Given the description of an element on the screen output the (x, y) to click on. 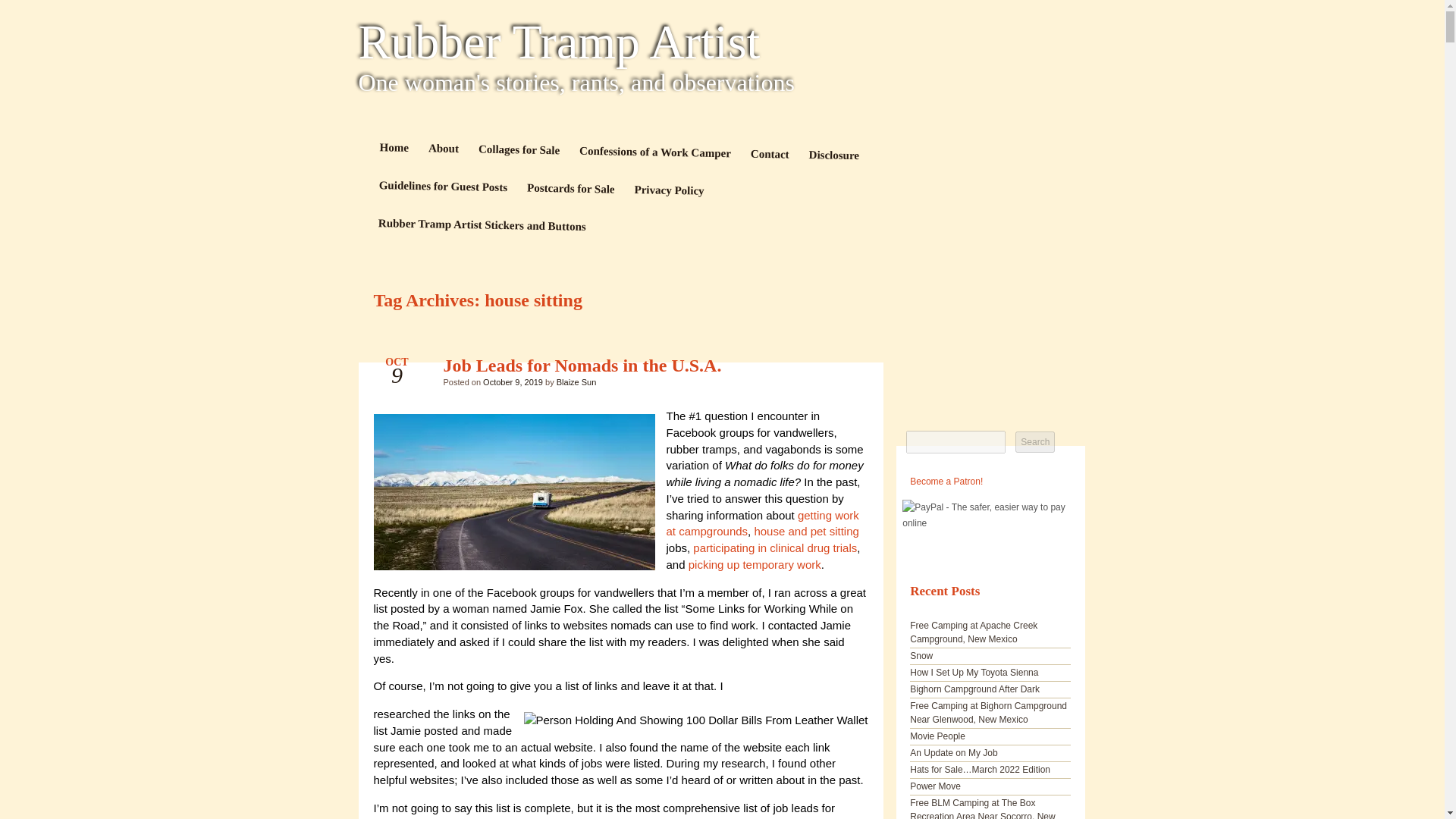
Rubber Tramp Artist Stickers and Buttons (481, 225)
Privacy Policy (668, 191)
Contact (768, 155)
Confessions of a Work Camper (654, 152)
house and pet sitting (806, 530)
Standard (843, 369)
participating in clinical drug trials (775, 547)
About (442, 149)
getting work at campgrounds (762, 522)
Search (1034, 441)
Disclosure (832, 157)
View all posts by Blaize Sun (576, 381)
Blaize Sun (576, 381)
Rubber Tramp Artist (722, 42)
6:12 am (513, 381)
